Given the description of an element on the screen output the (x, y) to click on. 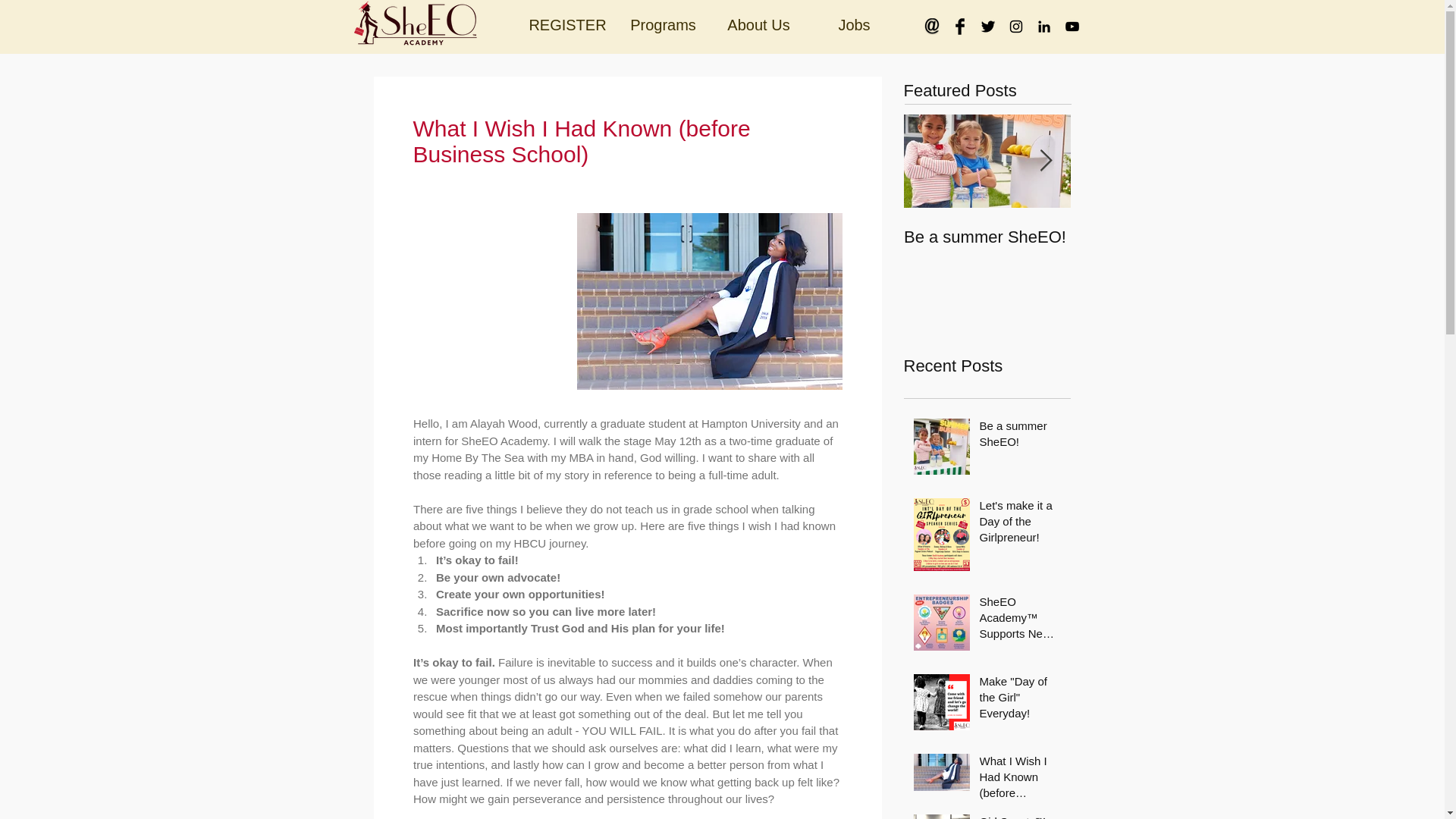
Be a summer SheEO! (987, 237)
Let's make it a Day of the Girlpreneur! (1153, 246)
Let's make it a Day of the Girlpreneur! (1020, 524)
REGISTER (567, 25)
Jobs (854, 25)
Make "Day of the Girl" Everyday! (1020, 700)
Be a summer SheEO! (1020, 436)
About Us (758, 25)
Programs (663, 25)
